Given the description of an element on the screen output the (x, y) to click on. 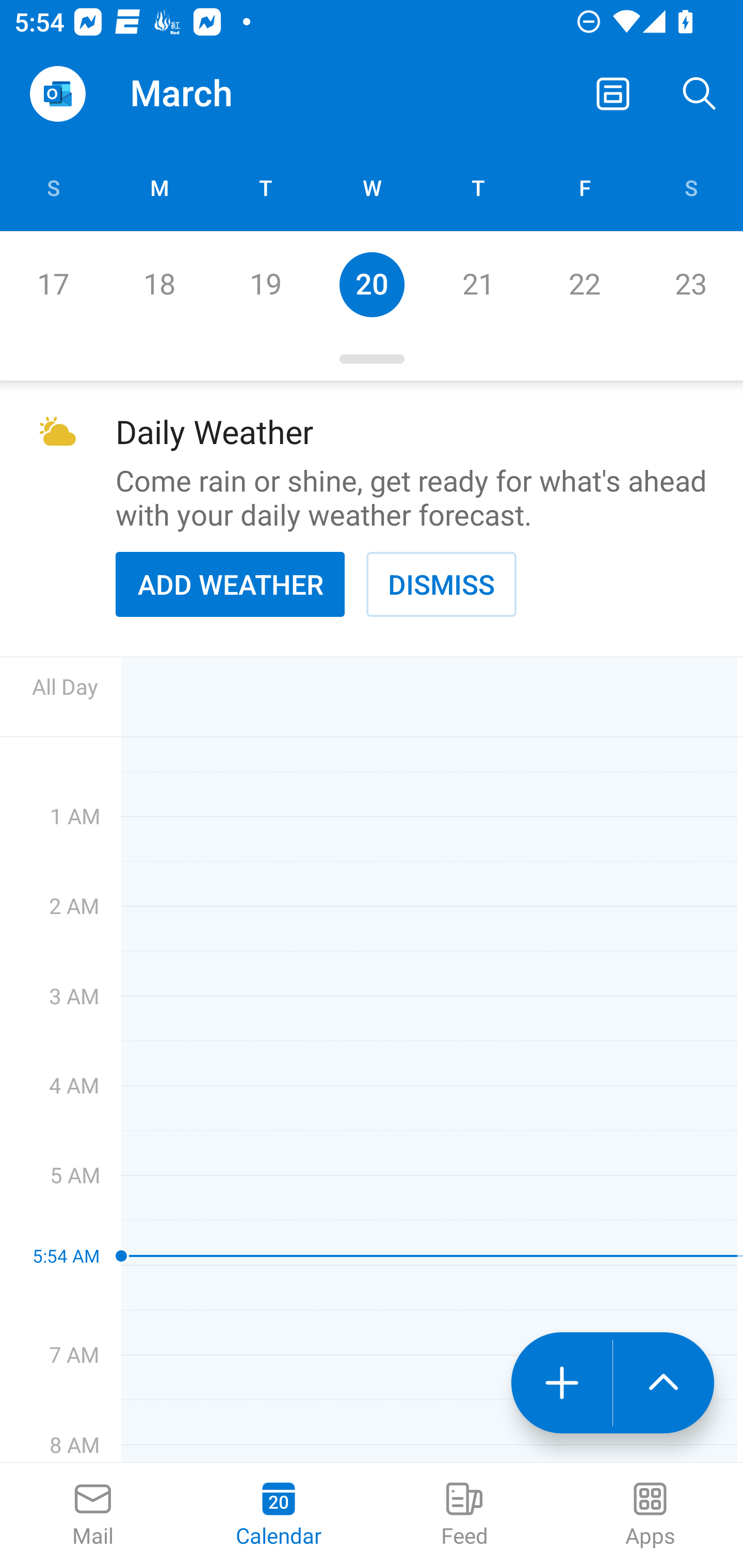
March March 2024, day picker (209, 93)
Switch away from Day view (612, 93)
Search, ,  (699, 93)
Open Navigation Drawer (57, 94)
17 Sunday, March 17 (53, 284)
18 Monday, March 18 (159, 284)
19 Tuesday, March 19 (265, 284)
20 Wednesday, March 20, today, Selected (371, 284)
21 Thursday, March 21 (477, 284)
22 Friday, March 22 (584, 284)
23 Saturday, March 23 (690, 284)
Day picker (371, 359)
ADD WEATHER (230, 583)
DISMISS (440, 583)
New event (561, 1382)
launch the extended action menu (663, 1382)
Mail (92, 1515)
Feed (464, 1515)
Apps (650, 1515)
